Given the description of an element on the screen output the (x, y) to click on. 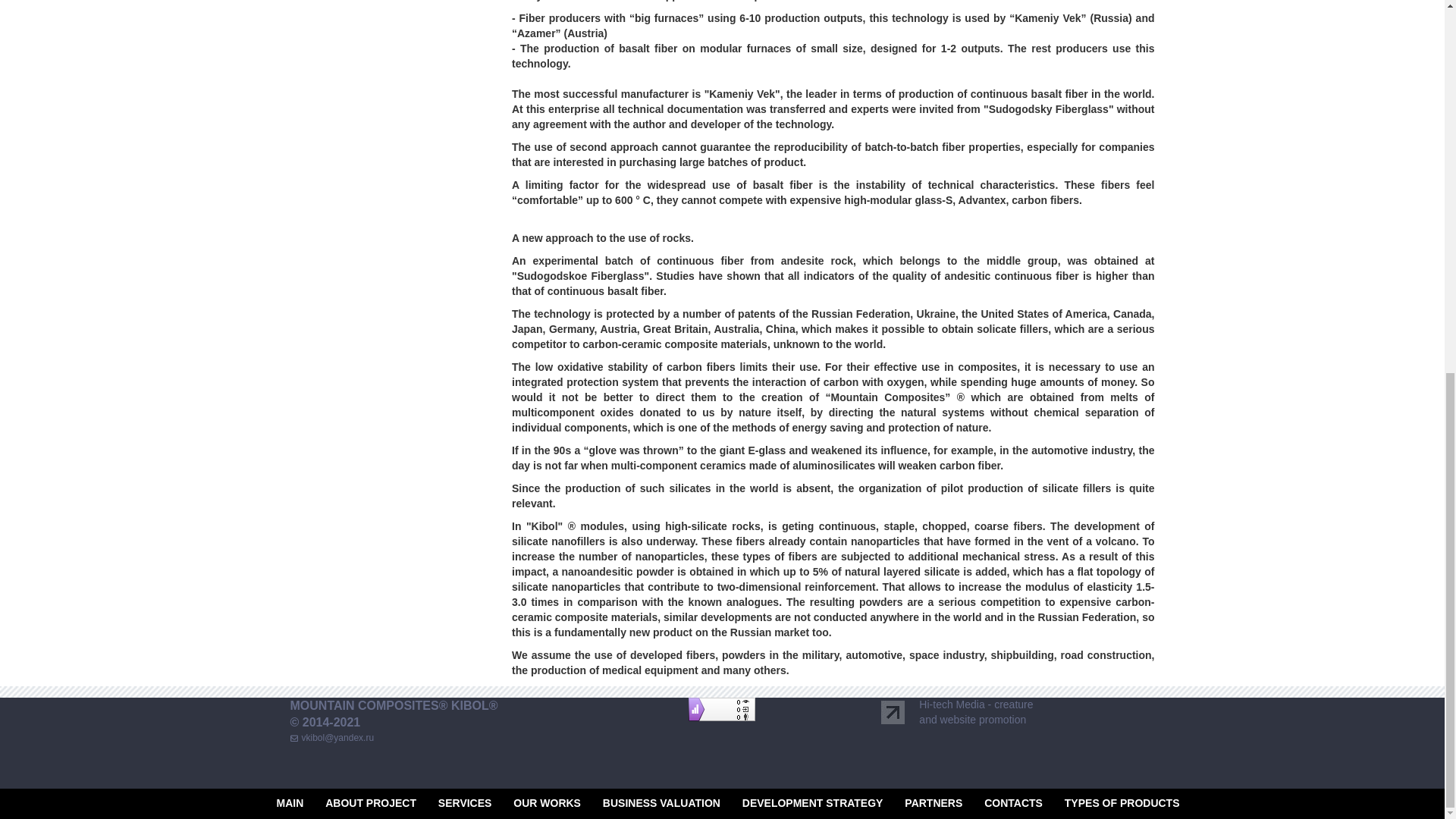
TYPES OF PRODUCTS (1121, 802)
Services (465, 802)
OUR WORKS (546, 802)
Our works (546, 802)
CONTACTS (1013, 802)
About project (370, 802)
MAIN (289, 802)
Hi-tech Media (951, 704)
Main (289, 802)
PARTNERS (933, 802)
DEVELOPMENT STRATEGY (812, 802)
SERVICES (465, 802)
ABOUT PROJECT (370, 802)
BUSINESS VALUATION (661, 802)
